Given the description of an element on the screen output the (x, y) to click on. 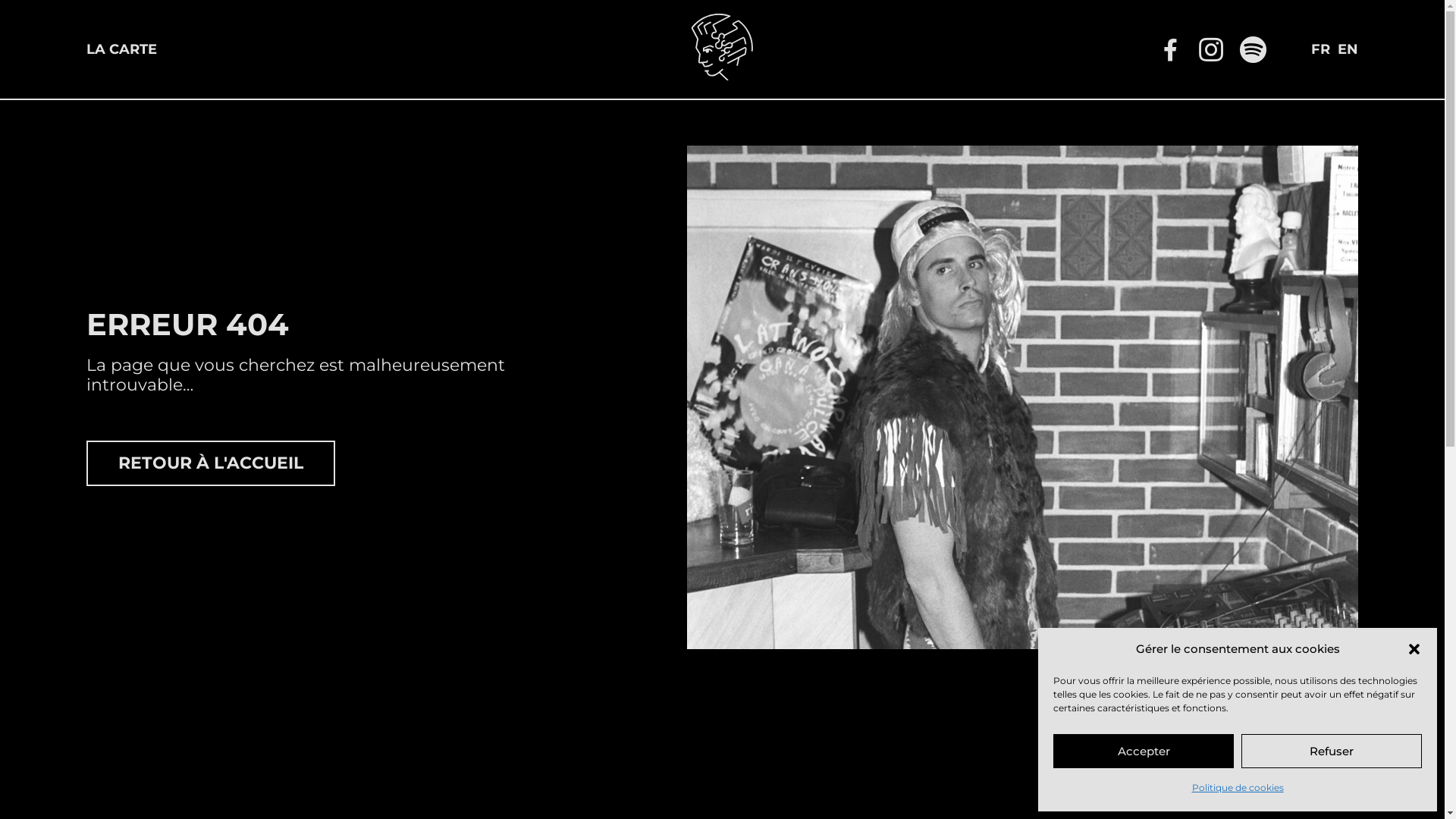
EN Element type: text (1347, 48)
LA CARTE Element type: text (121, 48)
FR Element type: text (1320, 48)
Accepter Element type: text (1143, 751)
Politique de cookies Element type: text (1237, 787)
Refuser Element type: text (1331, 751)
